Given the description of an element on the screen output the (x, y) to click on. 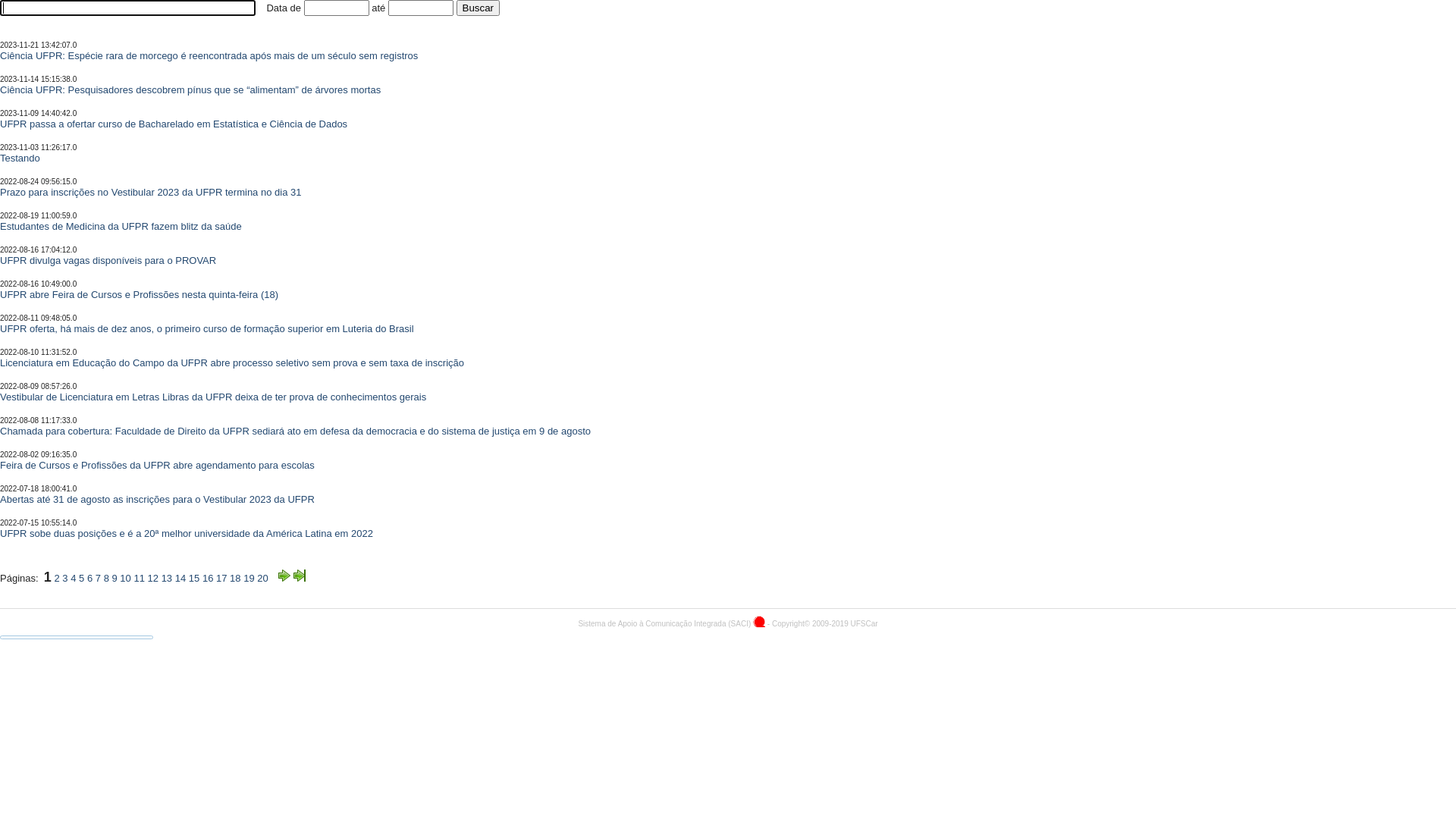
9 Element type: text (113, 577)
17 Element type: text (221, 577)
11 Element type: text (138, 577)
12 Element type: text (152, 577)
15 Element type: text (193, 577)
6 Element type: text (89, 577)
14 Element type: text (180, 577)
UFSCar Element type: text (864, 623)
16 Element type: text (207, 577)
20 Element type: text (262, 577)
7 Element type: text (97, 577)
3 Element type: text (64, 577)
18 Element type: text (234, 577)
4 Element type: text (72, 577)
2 Element type: text (56, 577)
5 Element type: text (81, 577)
Buscar Element type: text (477, 7)
8 Element type: text (106, 577)
13 Element type: text (166, 577)
19 Element type: text (248, 577)
Testando Element type: text (20, 157)
10 Element type: text (124, 577)
